Given the description of an element on the screen output the (x, y) to click on. 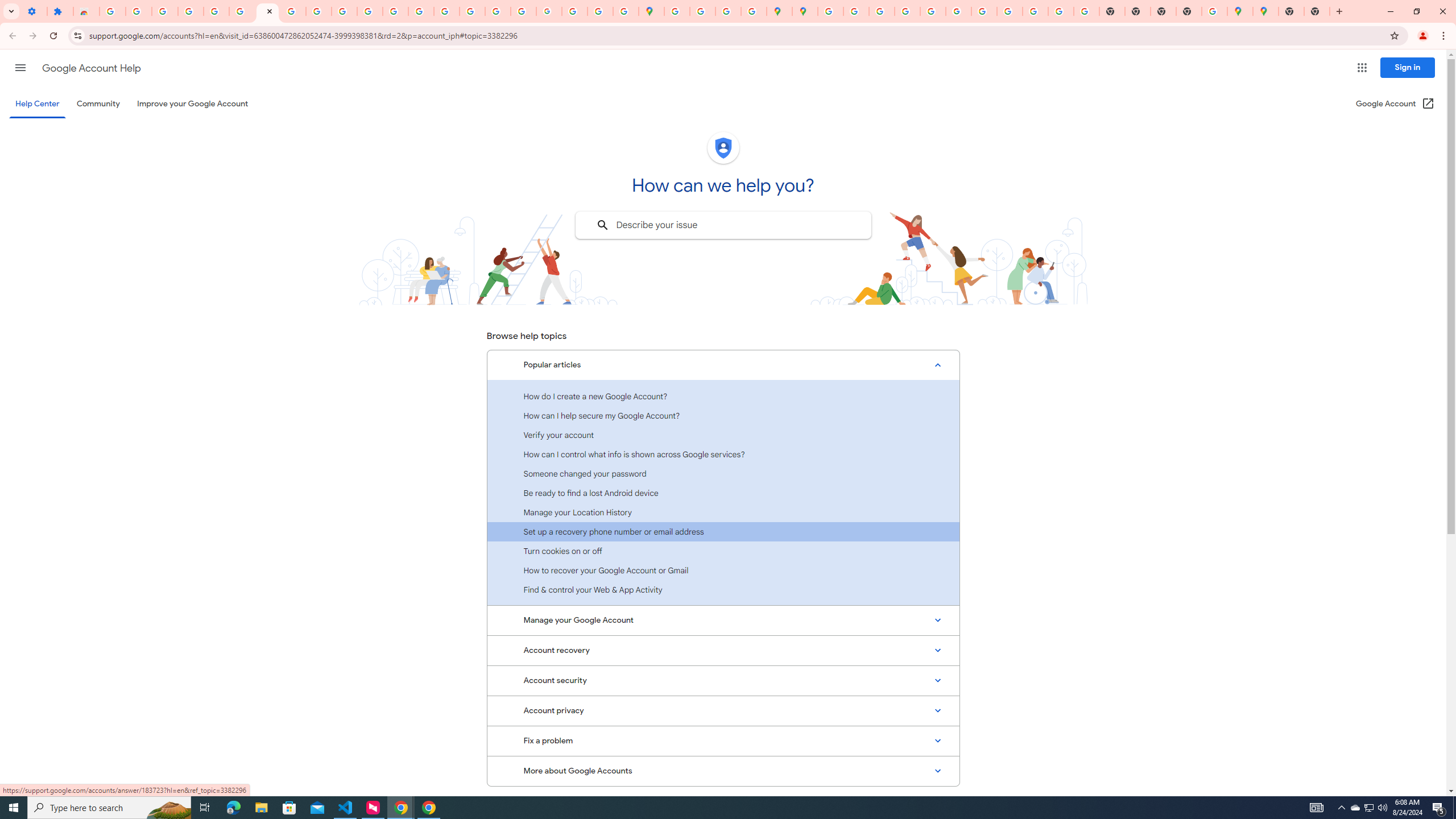
Community (97, 103)
New Tab (1291, 11)
Popular articles, Expanded list with 11 items (722, 365)
Be ready to find a lost Android device (722, 492)
Learn how to find your photos - Google Photos Help (165, 11)
Set up a recovery phone number or email address (722, 531)
Google Account Help (242, 11)
New Tab (1316, 11)
Manage your Location History (722, 512)
How to recover your Google Account or Gmail (722, 570)
